Given the description of an element on the screen output the (x, y) to click on. 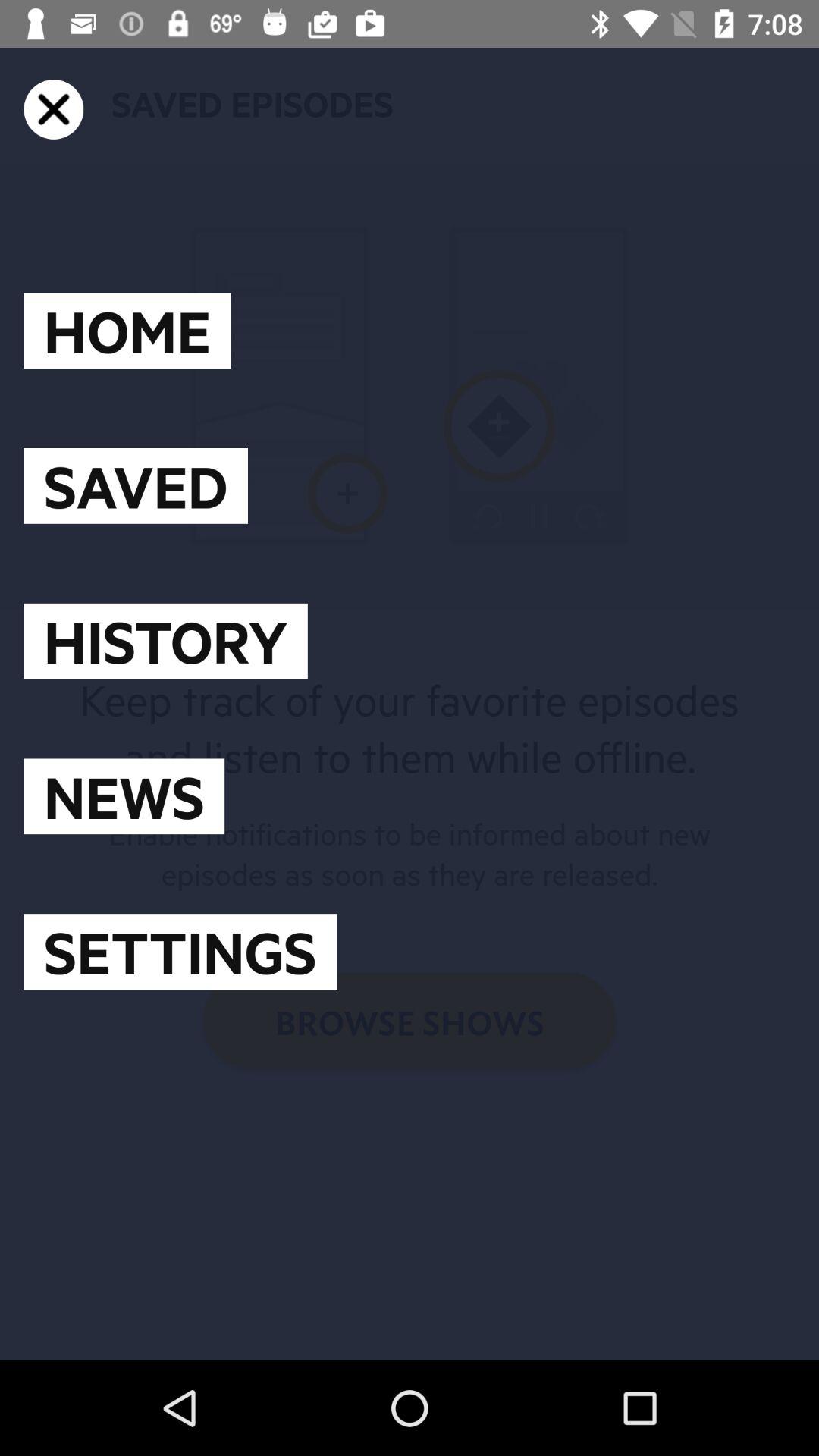
choose the news (123, 796)
